Given the description of an element on the screen output the (x, y) to click on. 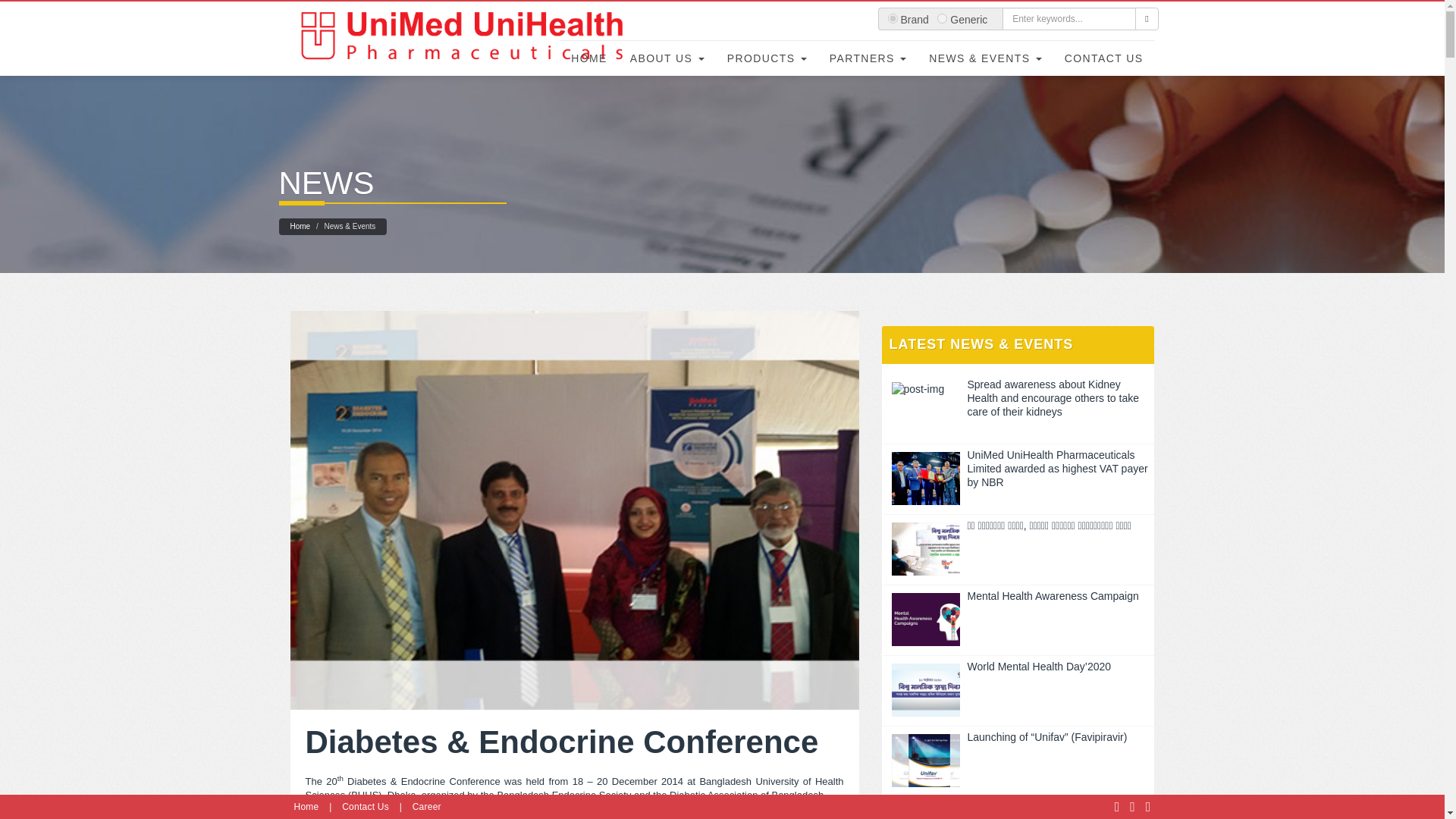
Mental Health Awareness Campaign (1018, 595)
Home (305, 806)
generic (942, 18)
Home (299, 225)
HOME (588, 58)
CONTACT US (1103, 58)
brand (891, 18)
ABOUT US (667, 58)
PRODUCTS (767, 58)
